Given the description of an element on the screen output the (x, y) to click on. 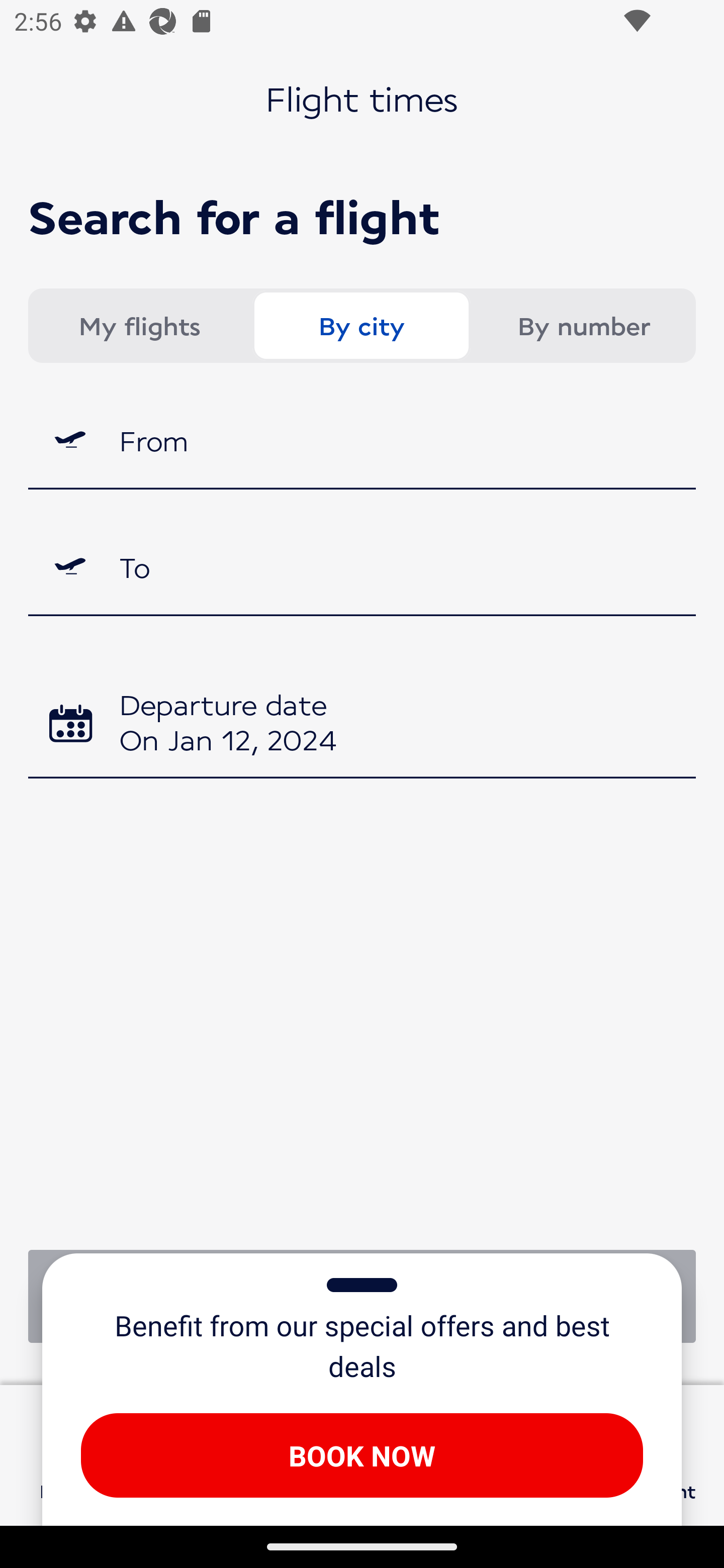
My flights (139, 325)
By city (361, 325)
By number (583, 325)
From (361, 439)
To (361, 566)
On Jan 12, 2024 Departure date (361, 724)
BOOK NOW (361, 1454)
